Given the description of an element on the screen output the (x, y) to click on. 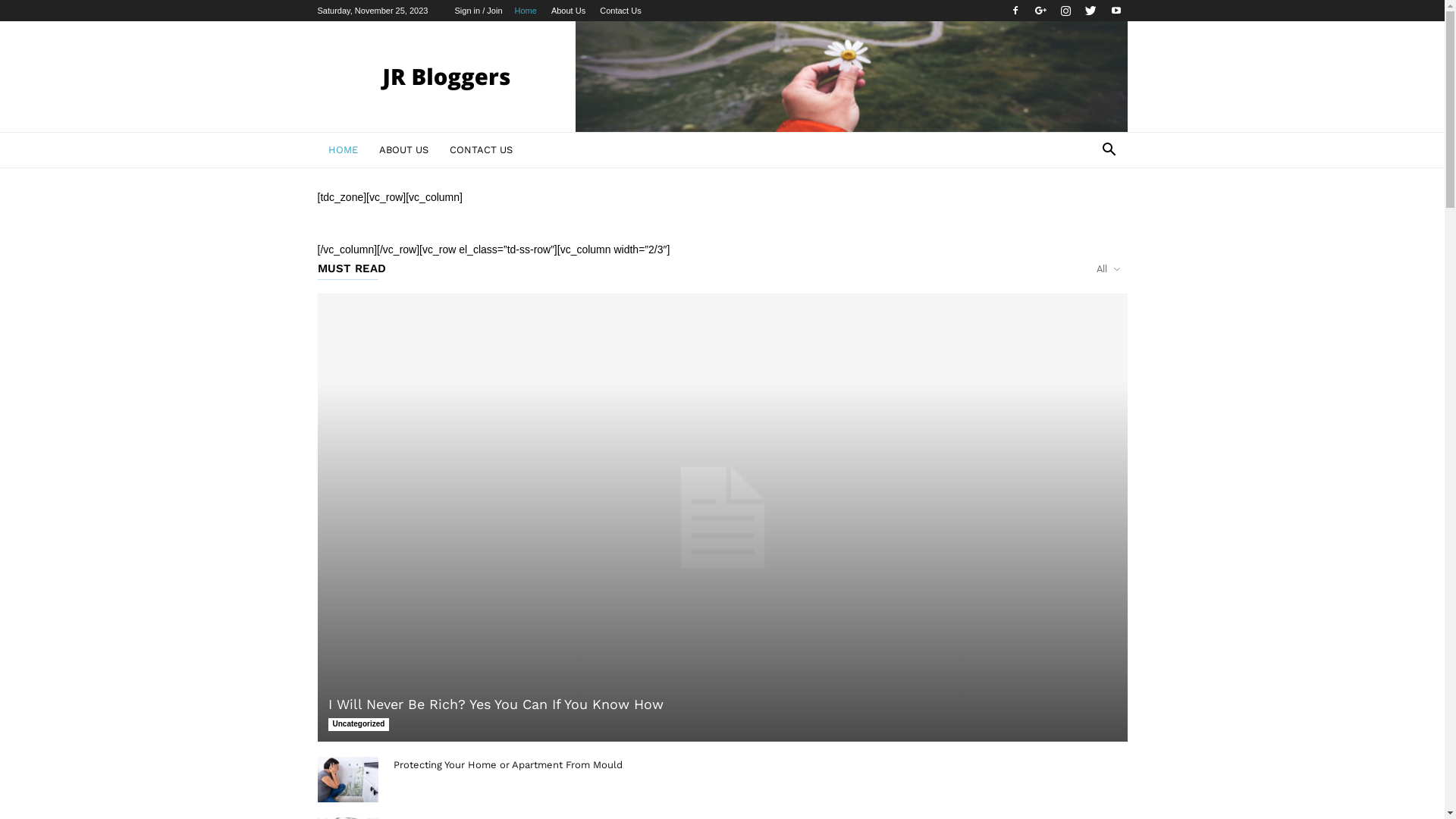
Home Element type: text (525, 10)
Protecting Your Home or Apartment From Mould Element type: text (506, 764)
Instagram Element type: hover (1065, 10)
Protecting Your Home or Apartment From Mould Element type: hover (346, 779)
ABOUT US Element type: text (403, 149)
Facebook Element type: hover (1015, 10)
Uncategorized Element type: text (358, 724)
About Us Element type: text (568, 10)
CONTACT US Element type: text (480, 149)
HOME Element type: text (341, 149)
Youtube Element type: hover (1115, 10)
I Will Never Be Rich? Yes You Can If You Know How Element type: hover (721, 517)
Search Element type: text (1085, 210)
I Will Never Be Rich? Yes You Can If You Know How Element type: text (494, 704)
Google+ Element type: hover (1040, 10)
Contact Us Element type: text (619, 10)
Twitter Element type: hover (1090, 10)
Sign in / Join Element type: text (478, 10)
